Given the description of an element on the screen output the (x, y) to click on. 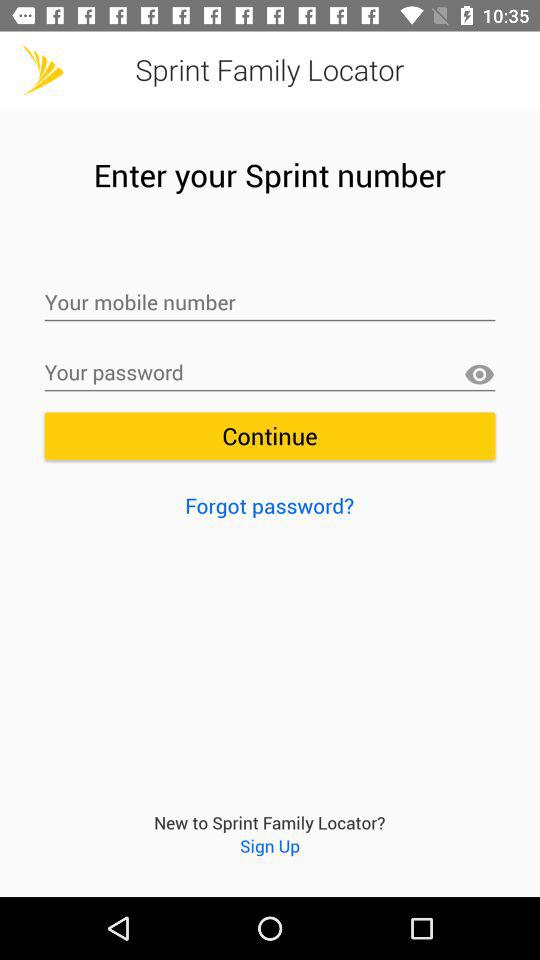
enter mobile number (269, 303)
